Given the description of an element on the screen output the (x, y) to click on. 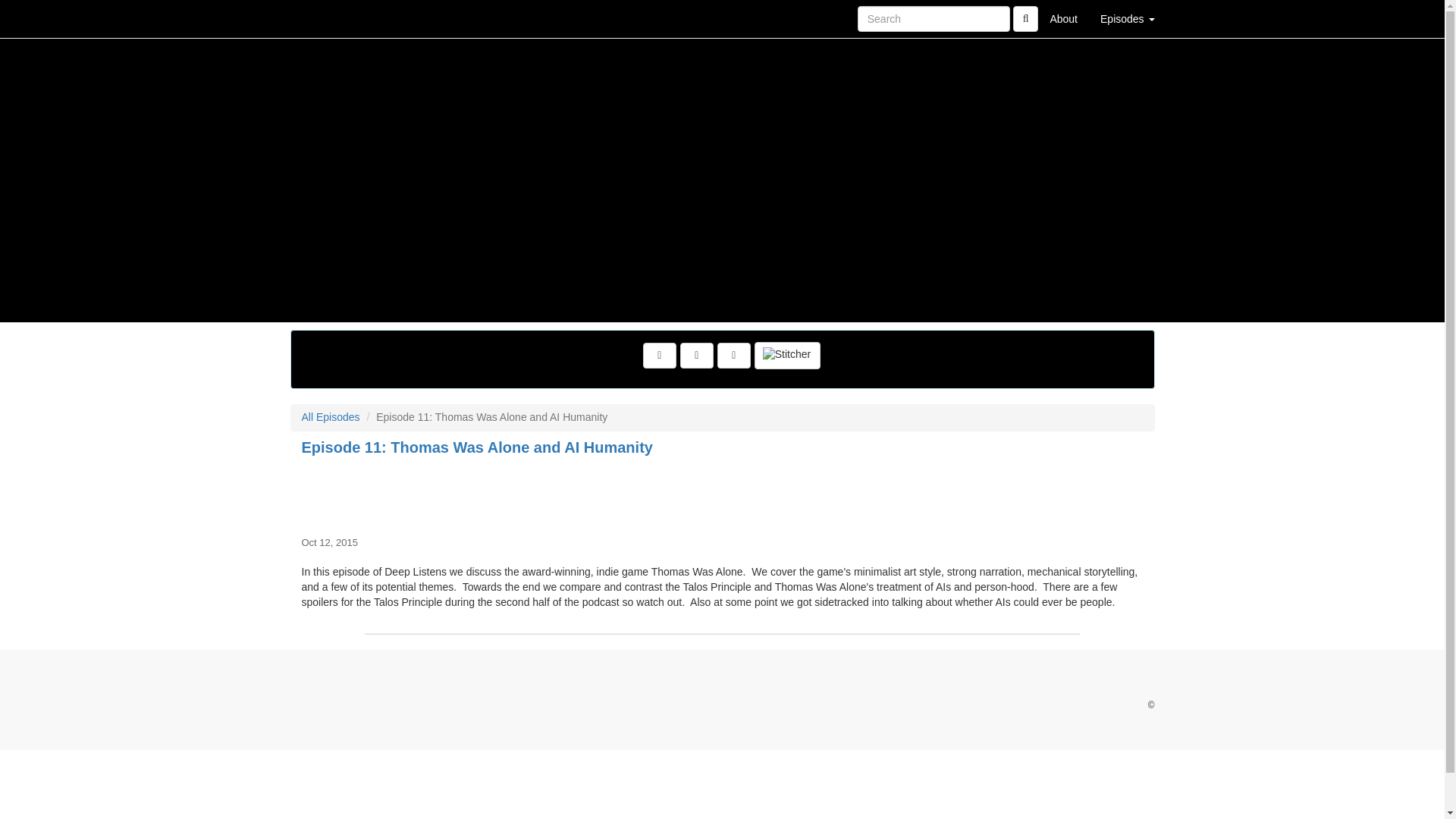
Episodes (1127, 18)
Home Page (320, 18)
About (1063, 18)
Subscribe to RSS Feed (696, 355)
Episode 11: Thomas Was Alone and AI Humanity (721, 493)
Listen on Stitcher (787, 355)
Visit Us on Twitter (660, 355)
Listen on Apple Podcasts (734, 355)
